Given the description of an element on the screen output the (x, y) to click on. 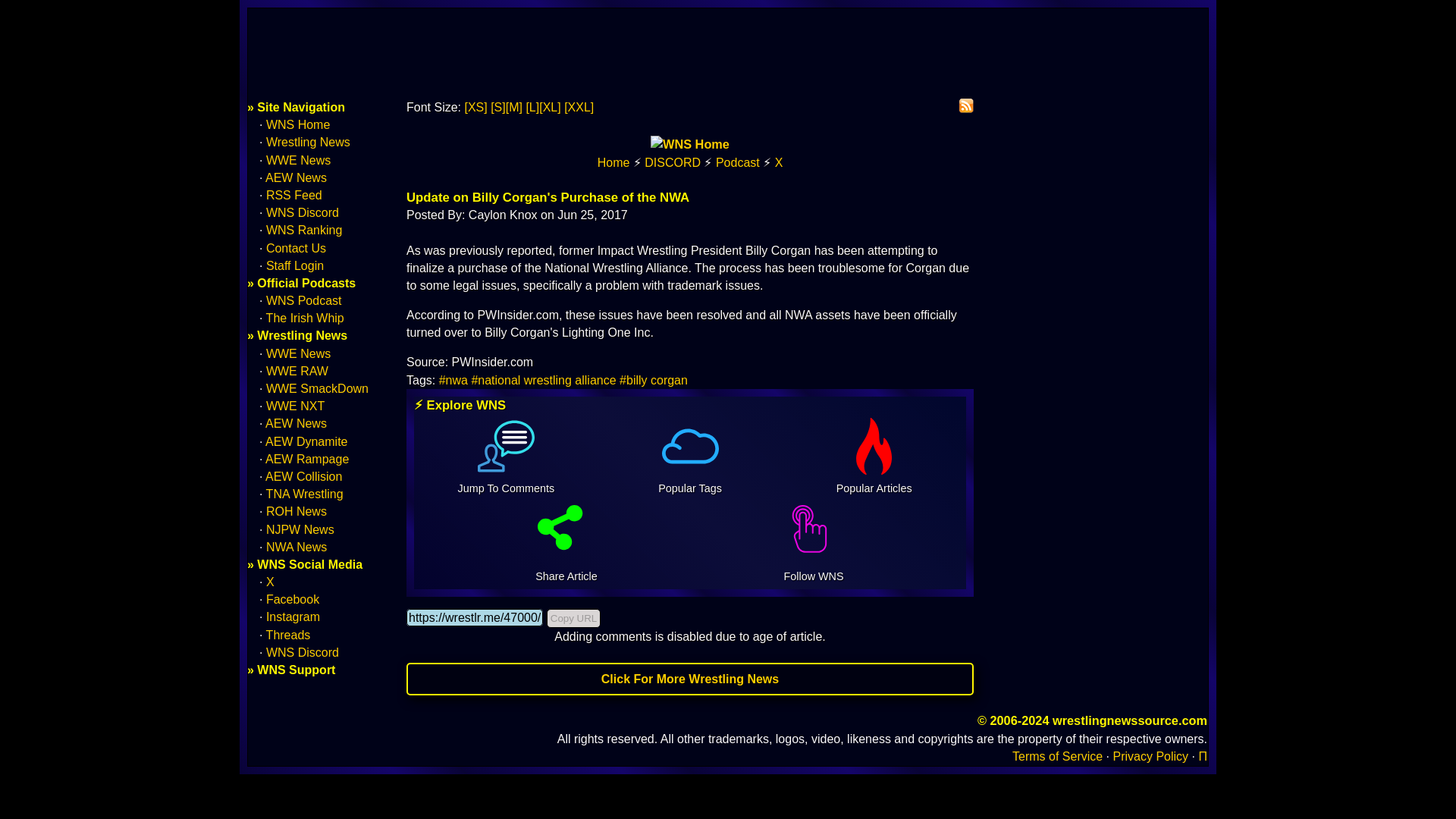
Facebook (292, 599)
WWE RAW (297, 370)
ROH News (296, 511)
RSS Feed (293, 195)
Wrestling News (308, 141)
WWE News (298, 353)
Keep up with the RSS feed! (966, 105)
NWA News (296, 546)
Threads (288, 634)
WNS Home (298, 124)
Contact Us (296, 246)
WNS Home (689, 143)
WNS Podcast (738, 162)
WWE News (298, 160)
WNS Ranking (304, 229)
